Given the description of an element on the screen output the (x, y) to click on. 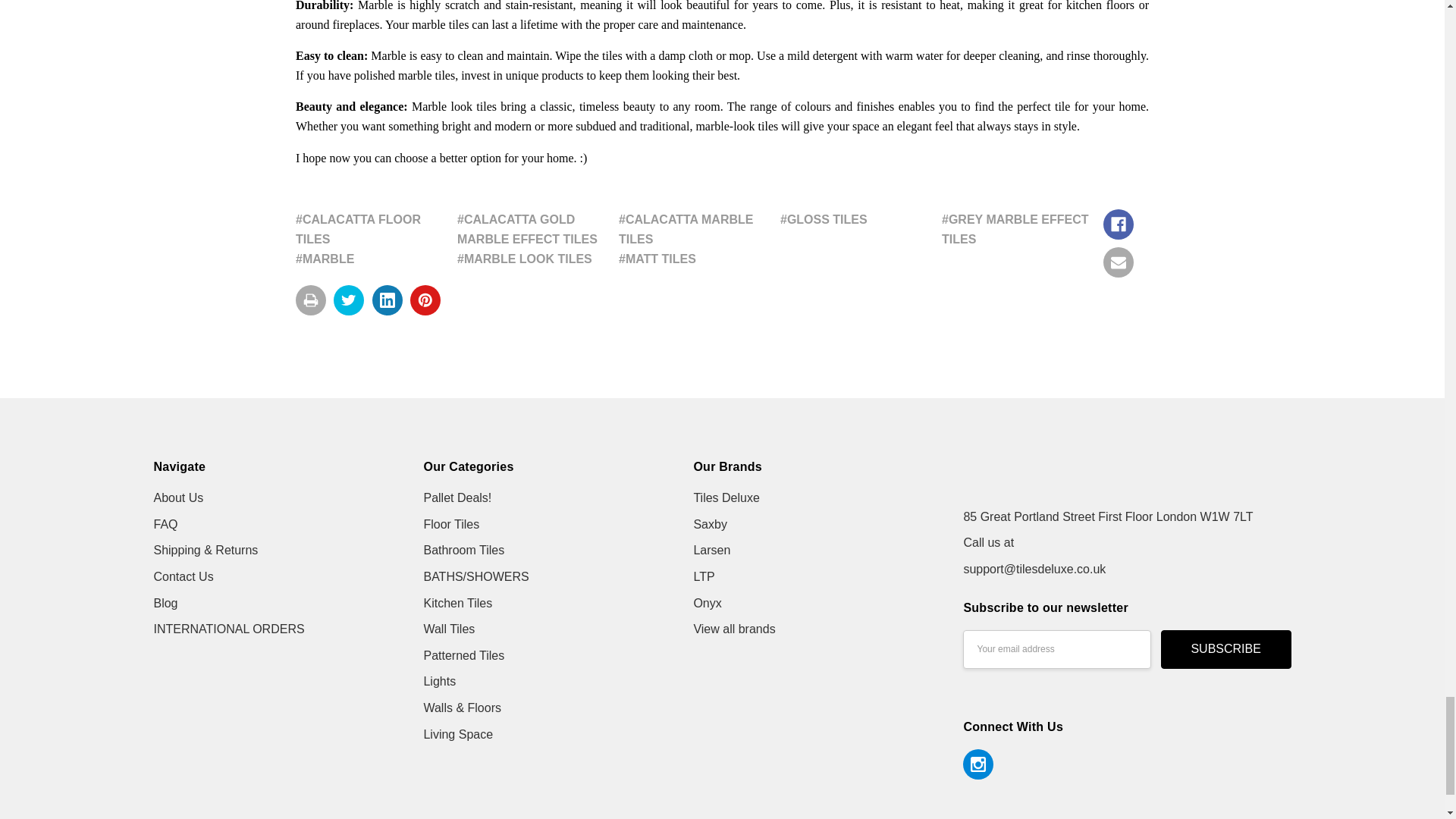
Tiles Deluxe (1057, 476)
Pinterest (425, 300)
Facebook (1118, 224)
Print (310, 300)
Twitter (348, 300)
Subscribe (1225, 649)
Email (1118, 262)
Linkedin (387, 300)
